Given the description of an element on the screen output the (x, y) to click on. 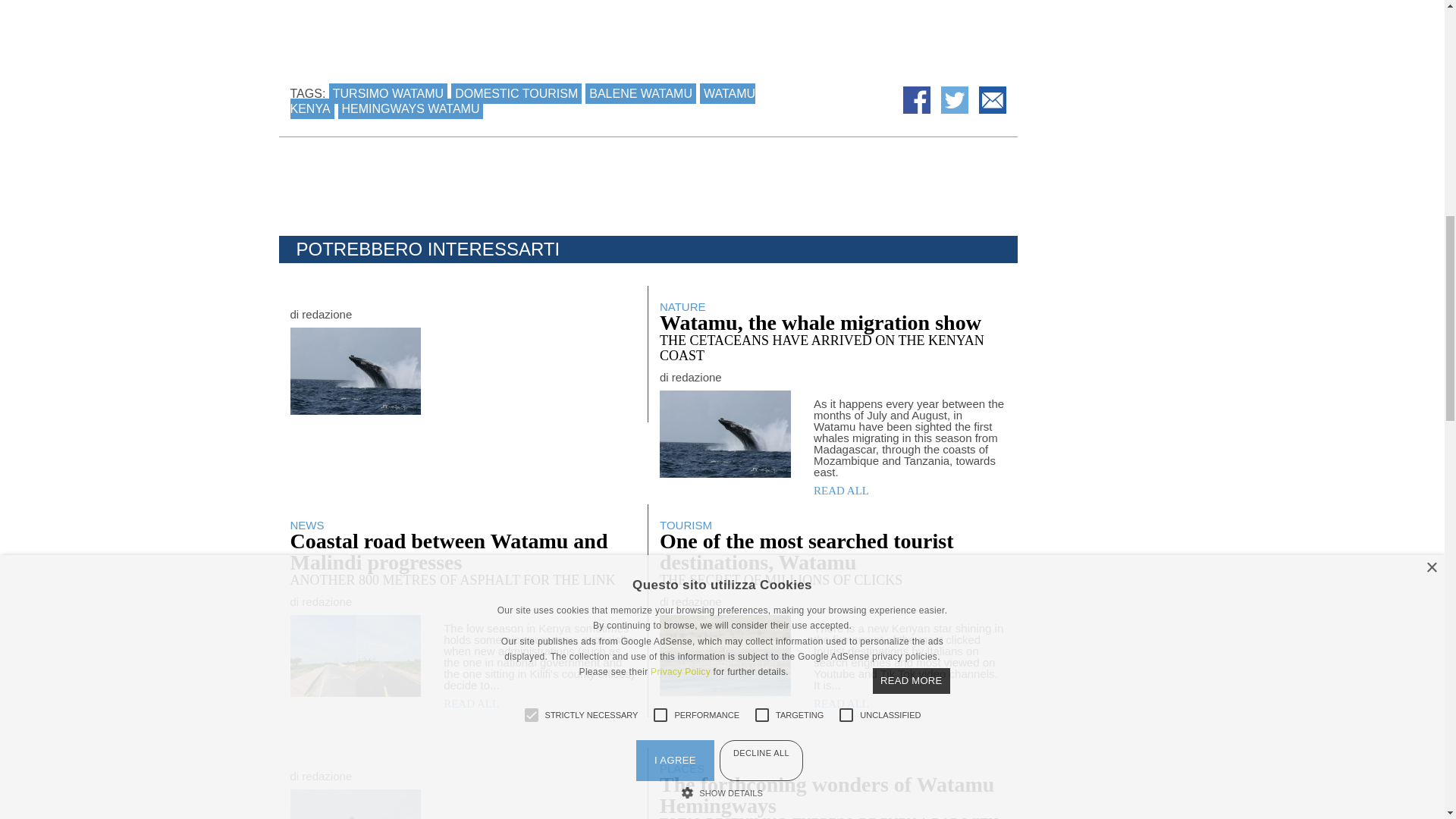
Advertisement (1089, 10)
